Given the description of an element on the screen output the (x, y) to click on. 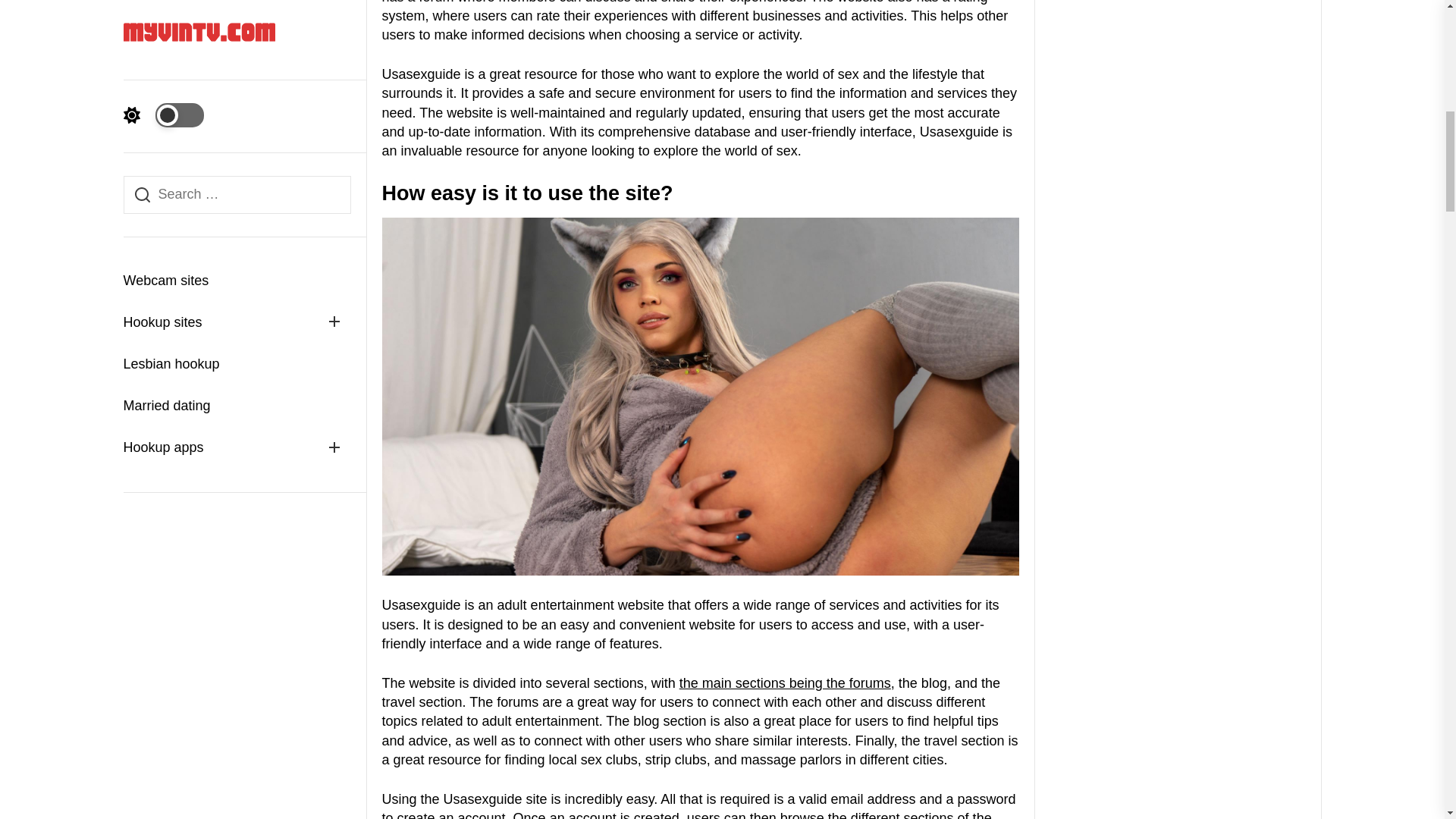
usasexguide forum (785, 683)
the main sections being the forums (785, 683)
